Given the description of an element on the screen output the (x, y) to click on. 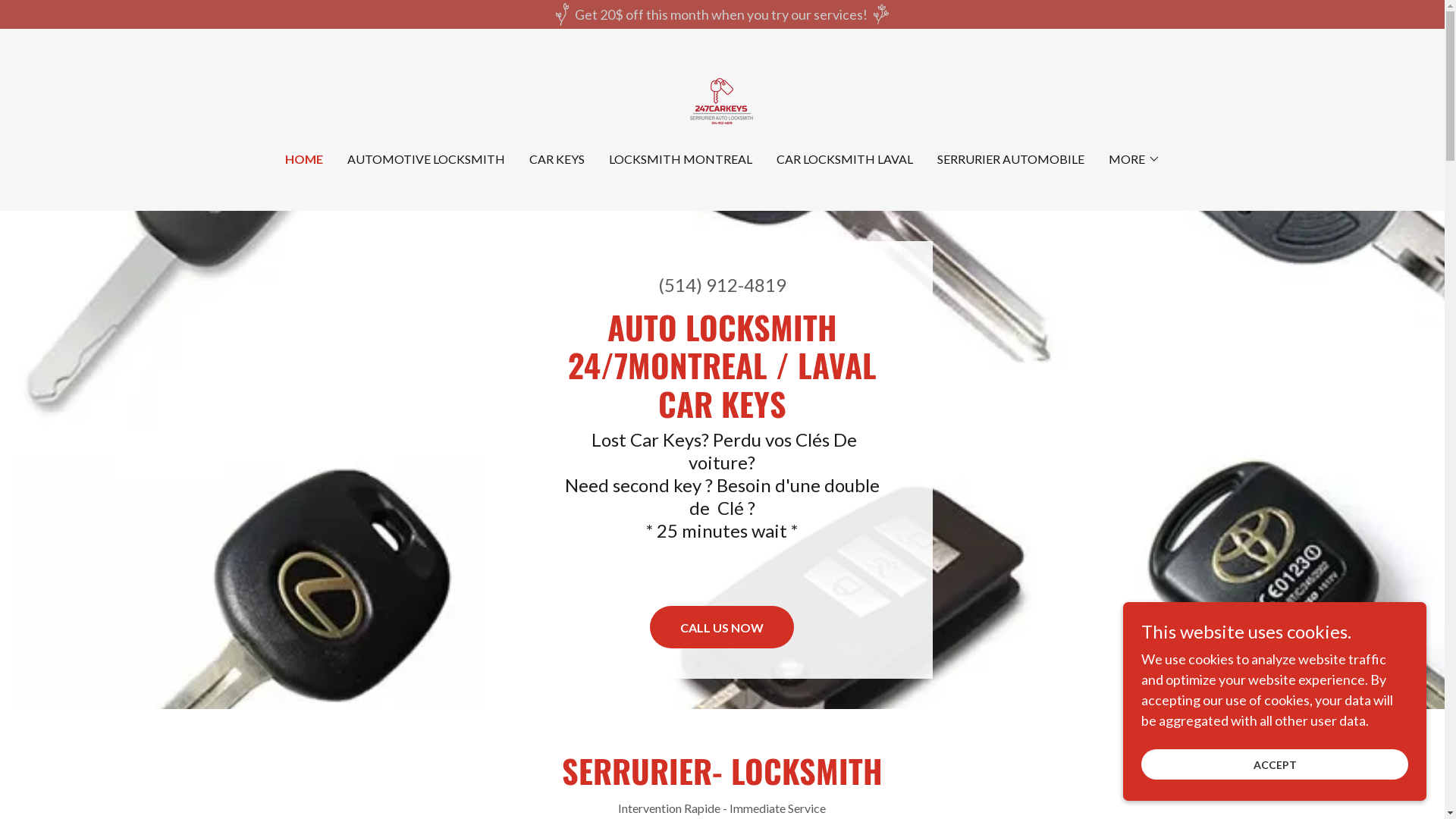
CAR LOCKSMITH LAVAL Element type: text (844, 158)
ACCEPT Element type: text (1274, 764)
(514) 912-4819 Element type: text (722, 284)
CALL US NOW Element type: text (721, 626)
MORE Element type: text (1134, 159)
SERRURIER AUTOMOBILE Element type: text (1010, 158)
24 hour Car Keys  Element type: hover (721, 99)
Get 20$ off this month when you try our services! Element type: text (722, 14)
LOCKSMITH MONTREAL Element type: text (679, 158)
CAR KEYS Element type: text (556, 158)
HOME Element type: text (304, 159)
AUTOMOTIVE LOCKSMITH Element type: text (425, 158)
